Given the description of an element on the screen output the (x, y) to click on. 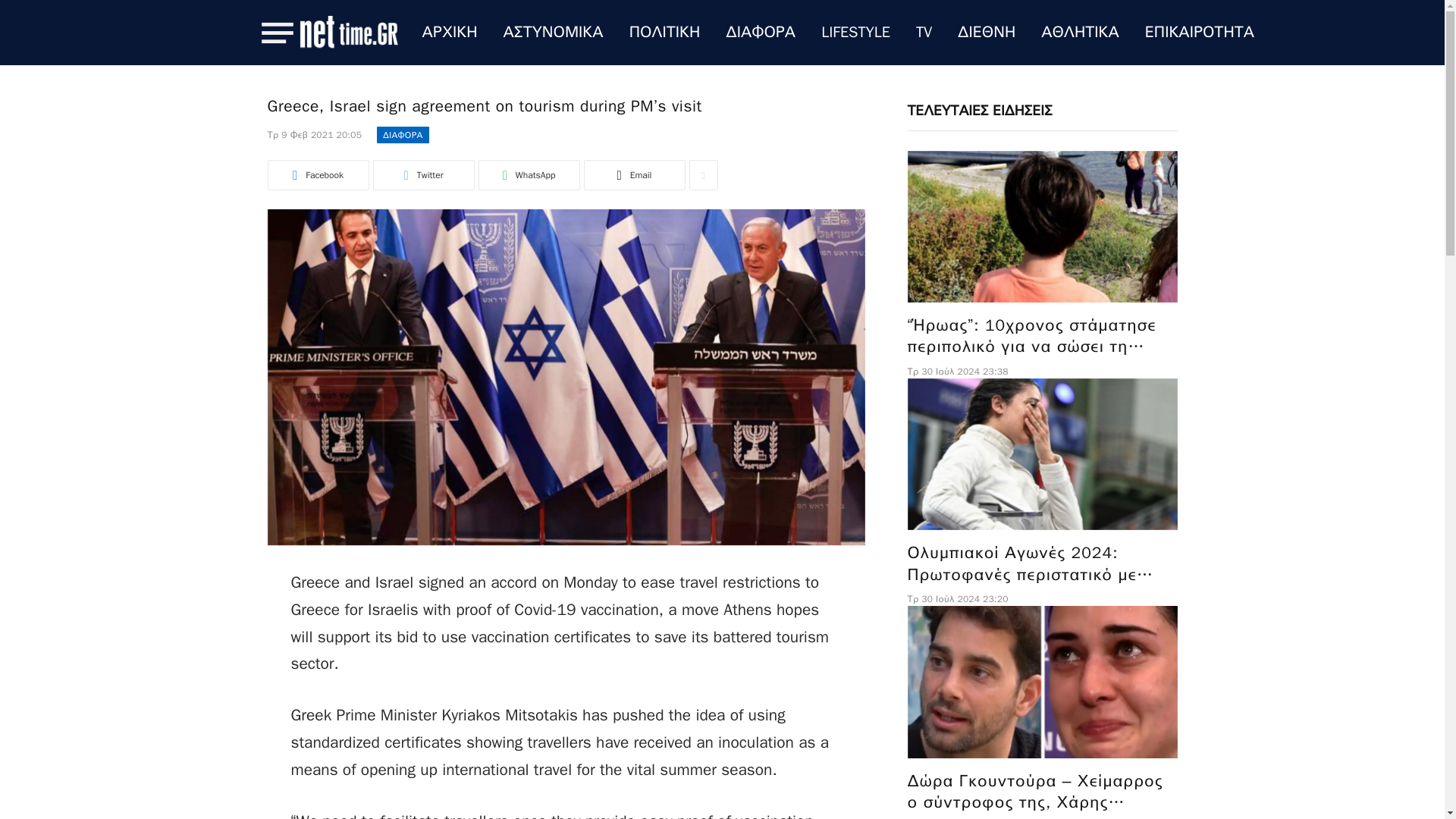
Share on WhatsApp (528, 174)
Twitter (423, 174)
Net-time.gr (347, 32)
Email (634, 174)
Share on Facebook (317, 174)
WhatsApp (528, 174)
LIFESTYLE (855, 32)
Share via Email (634, 174)
Show More Social Sharing (702, 174)
Facebook (317, 174)
